Given the description of an element on the screen output the (x, y) to click on. 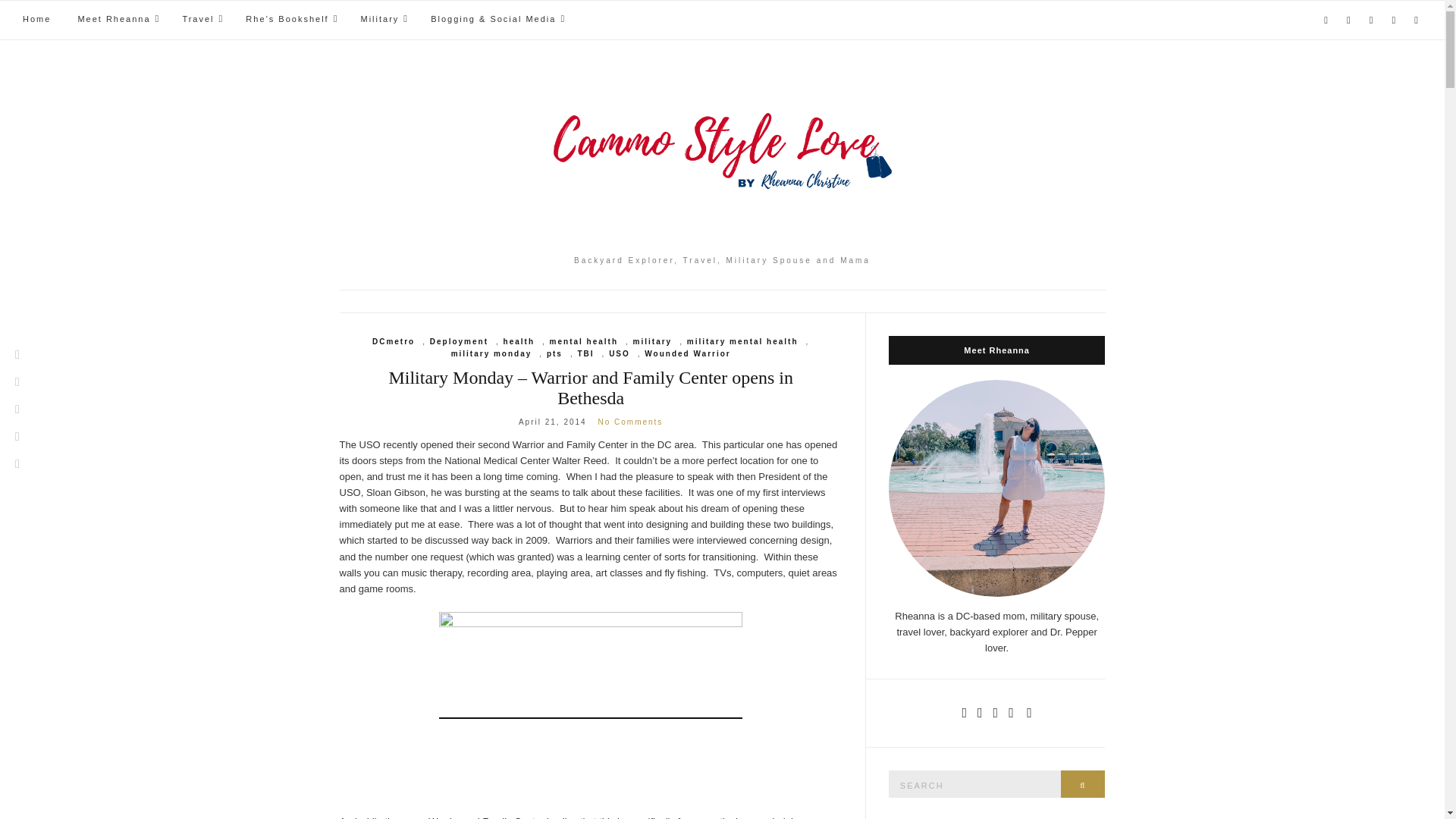
Home (36, 19)
Travel (200, 19)
Meet Rheanna (116, 19)
Military (381, 19)
